Given the description of an element on the screen output the (x, y) to click on. 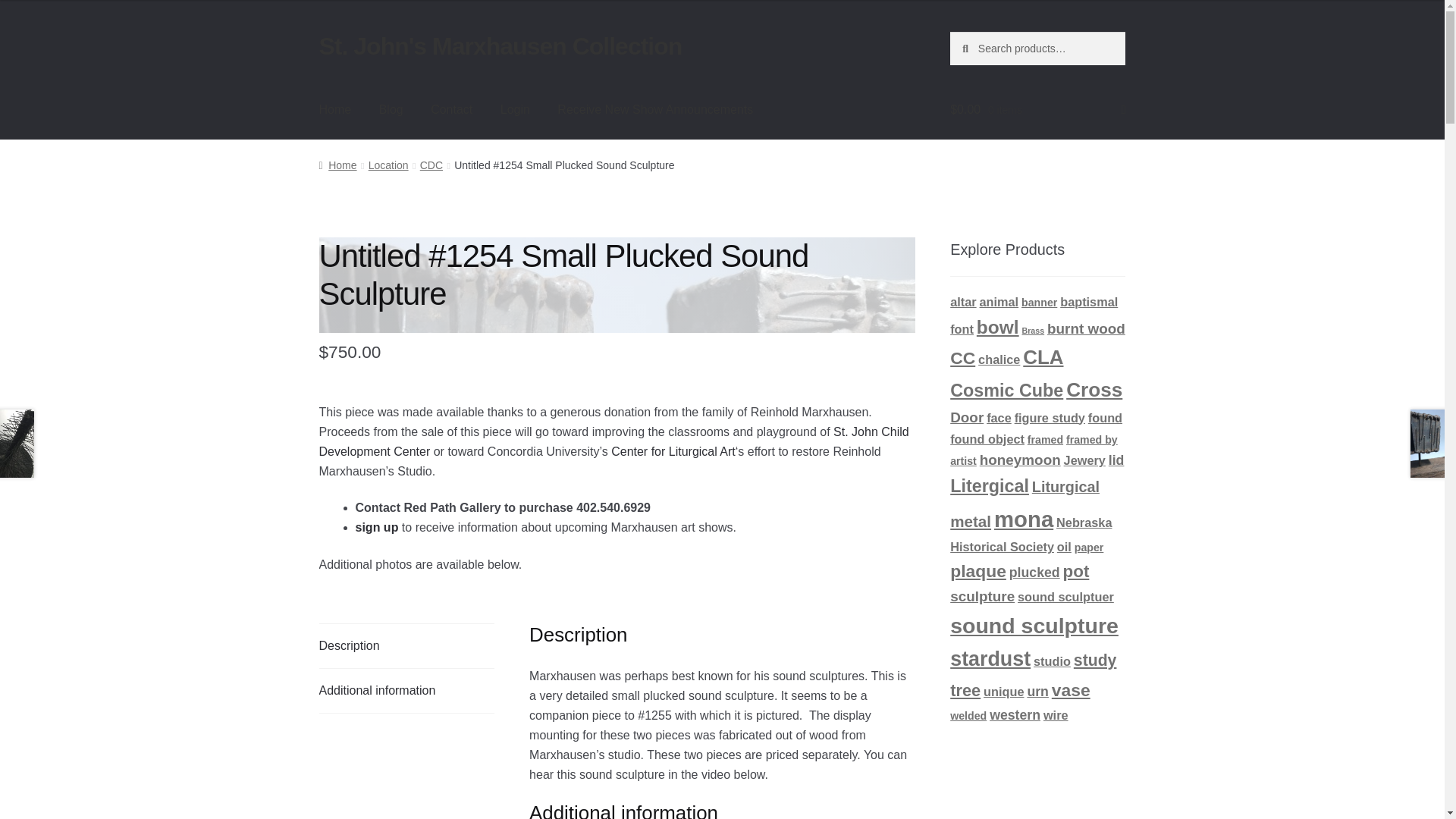
sign up (376, 526)
Center for Liturgical Art (673, 451)
Location (388, 164)
CDC (431, 164)
Contact (451, 109)
animal (999, 301)
Home (335, 109)
View your shopping cart (1037, 109)
altar (962, 301)
Home (337, 164)
St. John's Marxhausen Collection (500, 45)
St. John Child Development Center (613, 441)
Description (406, 646)
